Given the description of an element on the screen output the (x, y) to click on. 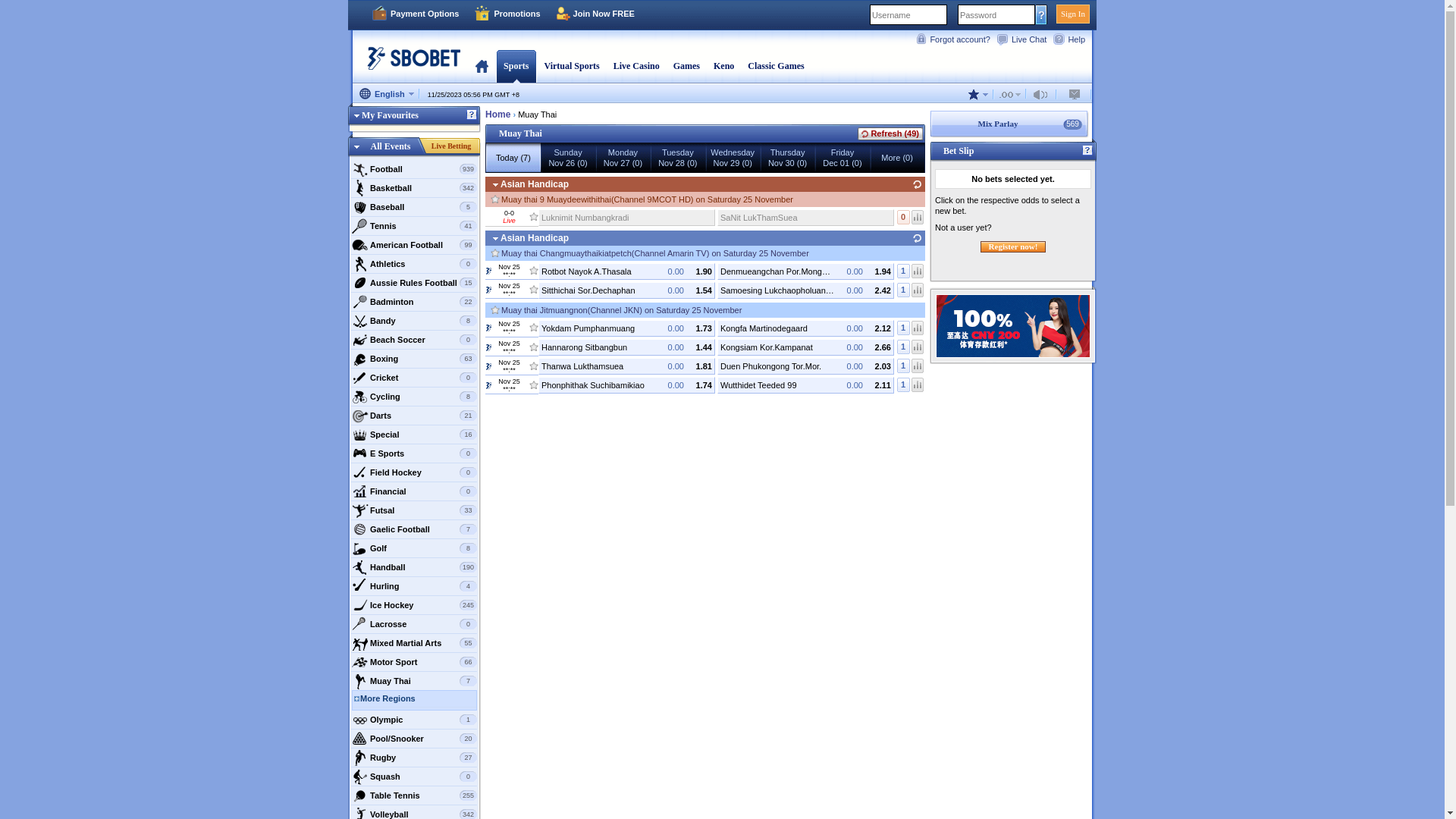
No statistics available Element type: hover (917, 270)
1.54
0.00
Sitthichai Sor.Dechaphan Element type: text (626, 290)
Baseball
5 Element type: text (413, 206)
Cycling
8 Element type: text (413, 396)
Squash
0 Element type: text (413, 776)
1 Element type: text (903, 327)
2.03
0.00
Duen Phukongong Tor.Mor. Element type: text (805, 365)
Motor Sport
66 Element type: text (413, 661)
Upcoming live Element type: hover (487, 366)
Mix Parlay
569 Element type: text (1008, 123)
Add to my favourites Element type: hover (533, 286)
Add to my favourites Element type: hover (533, 343)
Table Tennis
255 Element type: text (413, 795)
1 Element type: text (903, 365)
Live Casino Element type: text (636, 65)
1.44
0.00
Hannarong Sitbangbun Element type: text (626, 346)
2.11
0.00
Wutthidet Teeded 99 Element type: text (805, 384)
English Element type: text (386, 94)
Unavailable option Element type: hover (1010, 94)
Upcoming live Element type: hover (487, 270)
All Events Element type: text (390, 146)
American Football
99 Element type: text (413, 244)
Add to my favourites Element type: hover (533, 213)
Home Element type: text (481, 65)
Upcoming live Element type: hover (487, 384)
Athletics
0 Element type: text (413, 263)
No statistics available Element type: hover (917, 365)
Keno Element type: text (723, 65)
Classic Games Element type: text (775, 65)
1 Element type: text (903, 384)
Unavailable option Element type: hover (1075, 94)
My Favourites Element type: text (383, 114)
Hurling
4 Element type: text (413, 586)
Promotions Element type: text (506, 13)
More (0) Element type: text (896, 157)
Rugby
27 Element type: text (413, 757)
Payment Options Element type: text (414, 13)
Add to my favourites Element type: hover (494, 307)
Mixed Martial Arts
55 Element type: text (413, 642)
Unavailable option Element type: hover (1042, 94)
Add to my favourites Element type: hover (494, 197)
Upcoming live Element type: hover (487, 346)
Muay Thai
7 Element type: text (413, 680)
Beach Soccer
0 Element type: text (413, 339)
More Regions Element type: text (418, 699)
Help Element type: hover (471, 114)
2.12
0.00
Kongfa Martinodegaard Element type: text (805, 328)
1.90
0.00
Rotbot Nayok A.Thasala Element type: text (626, 270)
No statistics available Element type: hover (917, 289)
2.66
0.00
Kongsiam Kor.Kampanat Element type: text (805, 346)
Friday
Dec 01 (0) Element type: text (842, 157)
Register now! Element type: text (1013, 246)
1 Element type: text (903, 346)
No statistics available Element type: hover (917, 346)
Sunday
Nov 26 (0) Element type: text (567, 157)
Wednesday
Nov 29 (0) Element type: text (732, 157)
2.42
0.00
Samoesing Lukchaopholuangwang Element type: text (805, 290)
Golf
8 Element type: text (413, 548)
Darts
21 Element type: text (413, 415)
Lacrosse
0 Element type: text (413, 624)
1.74
0.00
Phonphithak Suchibamikiao Element type: text (626, 384)
Add to my favourites Element type: hover (494, 251)
Add to my favourites Element type: hover (533, 363)
Upcoming live Element type: hover (487, 327)
Home Element type: text (497, 113)
Virtual Sports Element type: text (571, 65)
Live Chat Element type: text (1024, 39)
Field Hockey
0 Element type: text (413, 472)
Sign In
Payment Options
Promotions
Join Now FREE Element type: text (722, 15)
Football
939 Element type: text (413, 169)
Live Casino Element type: text (636, 65)
0 Element type: text (903, 217)
Tuesday
Nov 28 (0) Element type: text (677, 157)
Monday
Nov 27 (0) Element type: text (622, 157)
SBOBET Sports | Online Sports Live Betting - Join Now! Element type: hover (409, 63)
No statistics available Element type: hover (917, 384)
Mix Parlay
569 Element type: text (1012, 123)
Live Betting Element type: text (450, 146)
+ Element type: text (513, 94)
Add to my favourites Element type: hover (533, 267)
Games Element type: text (686, 65)
Financial
0 Element type: text (413, 491)
Upcoming live Element type: hover (487, 289)
1.73
0.00
Yokdam Pumphanmuang Element type: text (626, 328)
Handball
190 Element type: text (413, 567)
1 Element type: text (903, 270)
Add to my favourites Element type: hover (533, 324)
Join Now FREE Element type: text (594, 13)
No statistics available Element type: hover (917, 327)
Tennis
41 Element type: text (413, 225)
No statistics available Element type: hover (917, 217)
Olympic
1 Element type: text (413, 719)
Today (7) Element type: text (513, 157)
1.81
0.00
Thanwa Lukthamsuea Element type: text (626, 365)
Cricket
0 Element type: text (413, 377)
Aussie Rules Football
15 Element type: text (413, 282)
Basketball
342 Element type: text (413, 187)
1 Element type: text (903, 289)
Special
16 Element type: text (413, 434)
Sign In Element type: text (1072, 13)
1.94
0.00
Denmueangchan Por.Mongkhonin Element type: text (805, 270)
Add to my favourites Element type: hover (533, 381)
Forgot your password? Element type: hover (1041, 14)
Futsal
33 Element type: text (413, 510)
E Sports
0 Element type: text (413, 453)
Gaelic Football
7 Element type: text (413, 529)
Sports Element type: text (515, 65)
Help Element type: hover (1087, 150)
Boxing
63 Element type: text (413, 358)
Thursday
Nov 30 (0) Element type: text (786, 157)
Bandy
8 Element type: text (413, 320)
Help Element type: text (1071, 39)
Pool/Snooker
20 Element type: text (413, 738)
My Favourites Element type: text (414, 117)
Ice Hockey
245 Element type: text (413, 605)
Badminton
22 Element type: text (413, 301)
